Given the description of an element on the screen output the (x, y) to click on. 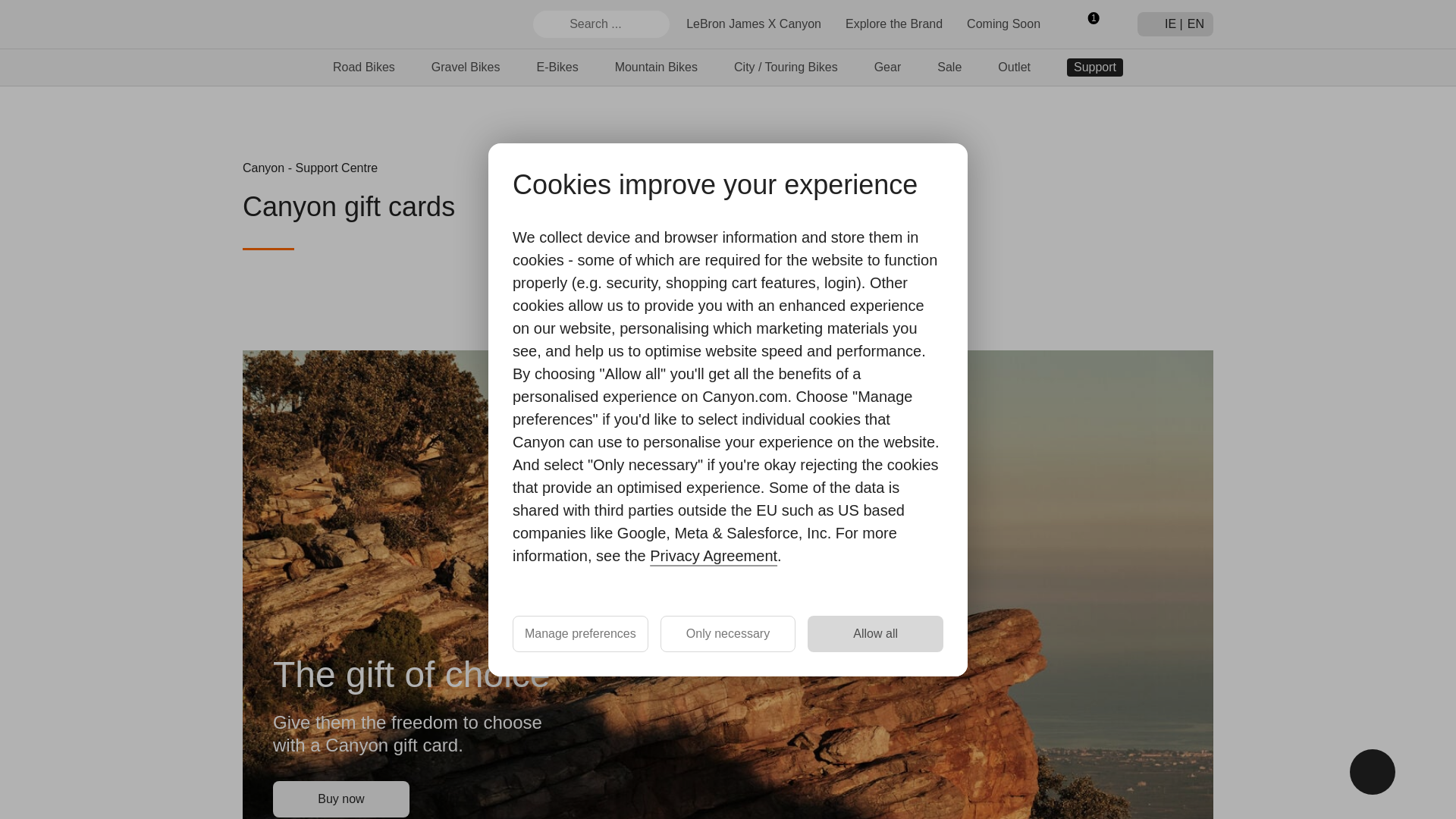
Search ... (600, 23)
Canyon (297, 23)
Road Bikes (363, 67)
Explore the Brand (893, 23)
Coming Soon (1003, 23)
LeBron James X Canyon (753, 23)
1 (1086, 24)
